Given the description of an element on the screen output the (x, y) to click on. 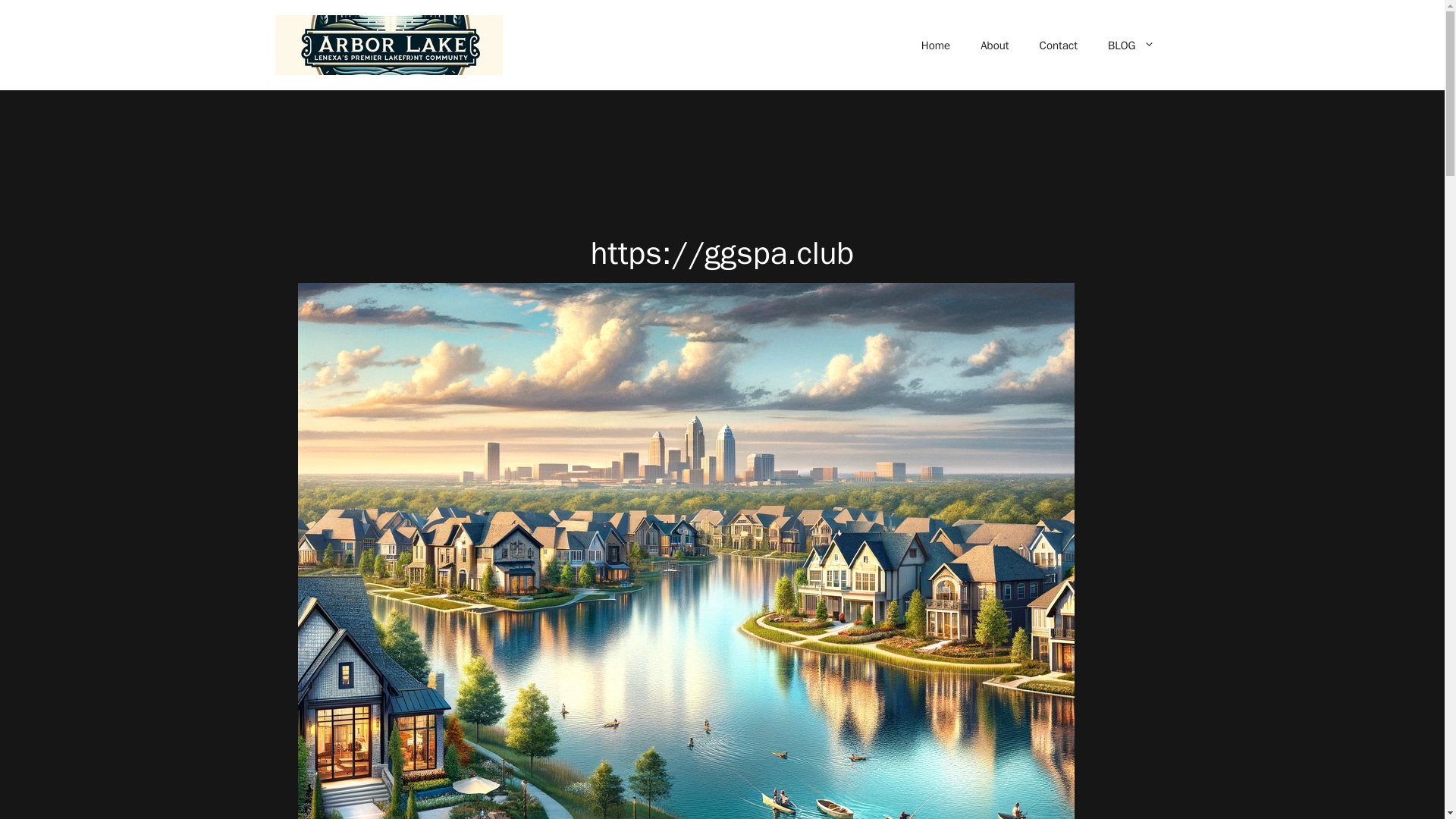
Contact (1059, 44)
Home (935, 44)
About (994, 44)
BLOG (1131, 44)
